Given the description of an element on the screen output the (x, y) to click on. 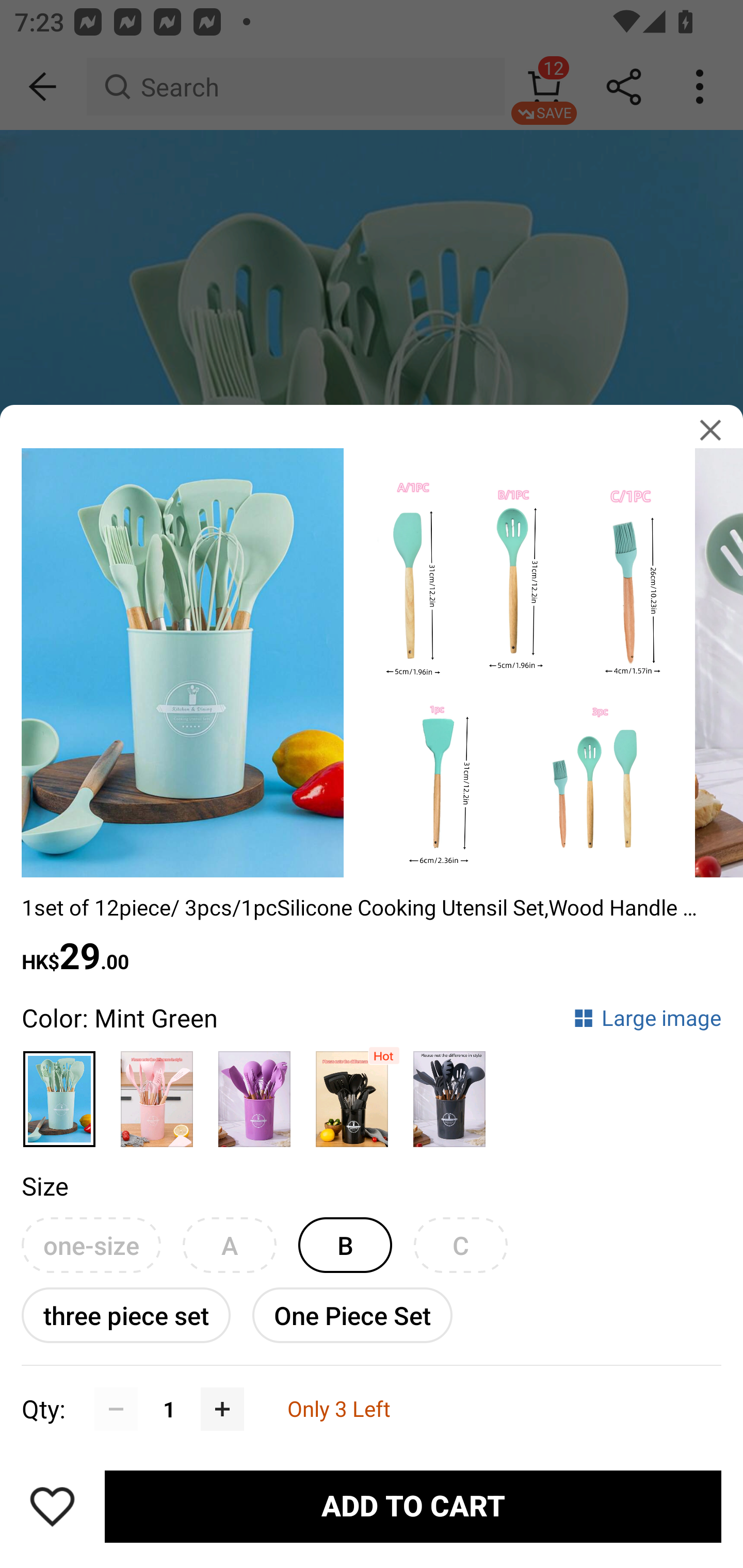
Color: Mint Green (119, 1017)
Large image (646, 1017)
Mint Green (59, 1090)
Pink (156, 1090)
Purple (254, 1090)
Black (352, 1090)
Grey (449, 1090)
Size (44, 1185)
one-size A (91, 1244)
A B (229, 1244)
B Cselected option (344, 1244)
C three piece set (460, 1244)
three piece set One Piece Setunselected option (125, 1315)
One Piece Set unselected option (352, 1315)
ADD TO CART (412, 1506)
Save (52, 1505)
